Given the description of an element on the screen output the (x, y) to click on. 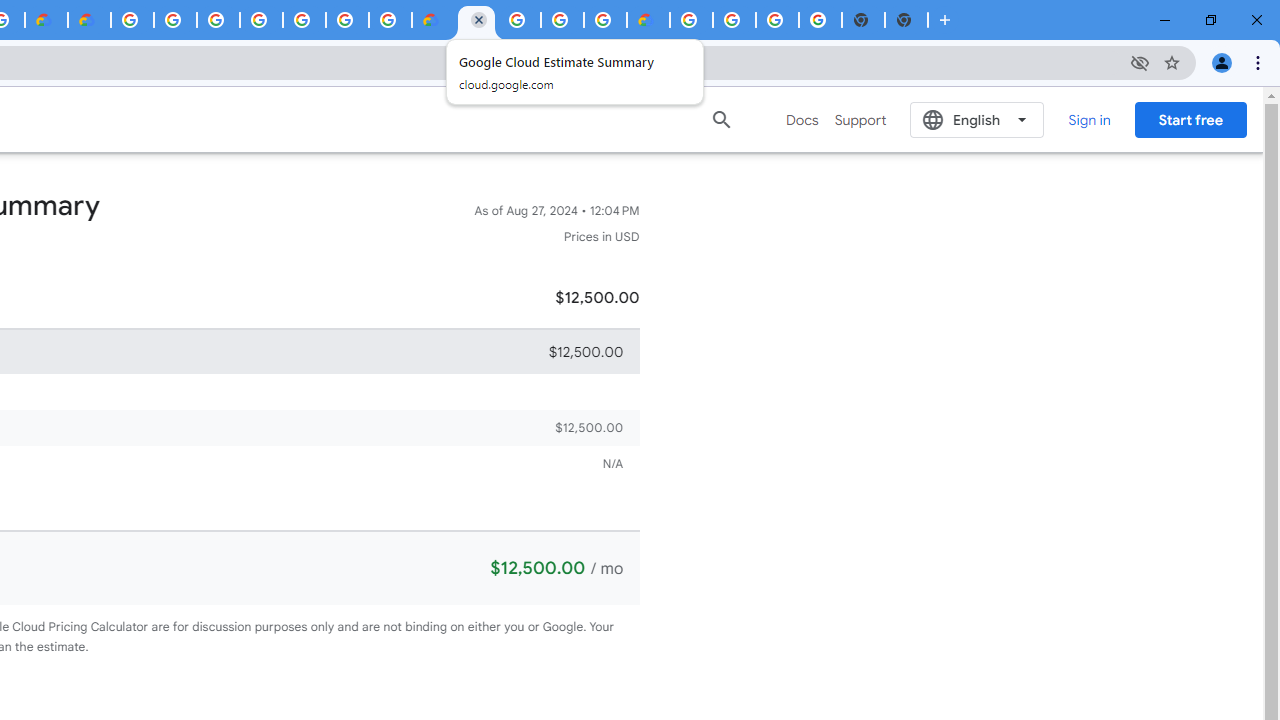
Docs (802, 119)
Browse Chrome as a guest - Computer - Google Chrome Help (562, 20)
Customer Care | Google Cloud (45, 20)
Google Cloud Platform (347, 20)
Sign in - Google Accounts (218, 20)
Customer Care | Google Cloud (433, 20)
